Given the description of an element on the screen output the (x, y) to click on. 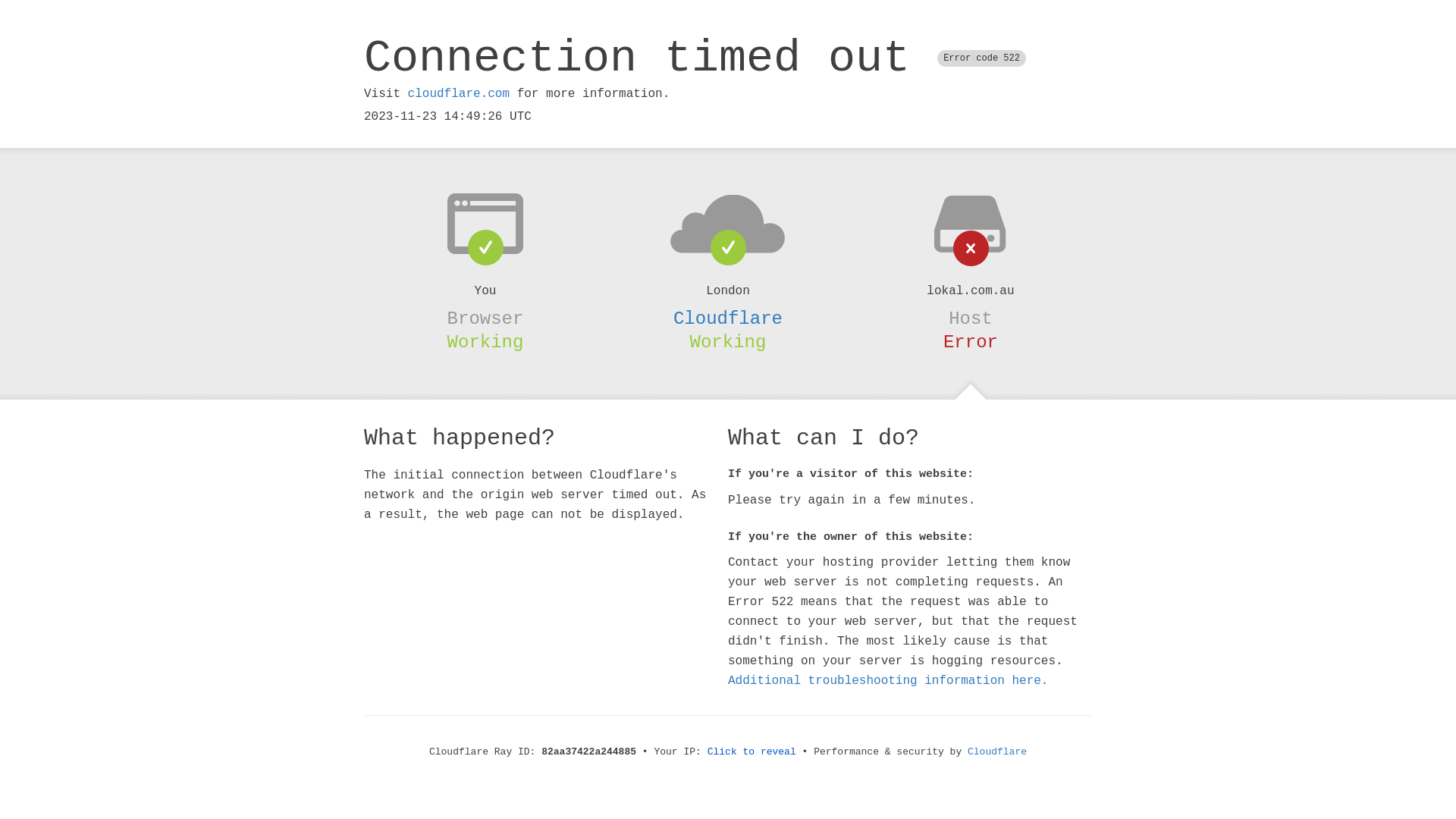
Click to reveal Element type: text (751, 751)
Cloudflare Element type: text (996, 751)
cloudflare.com Element type: text (458, 93)
Additional troubleshooting information here. Element type: text (888, 680)
Cloudflare Element type: text (727, 318)
